Given the description of an element on the screen output the (x, y) to click on. 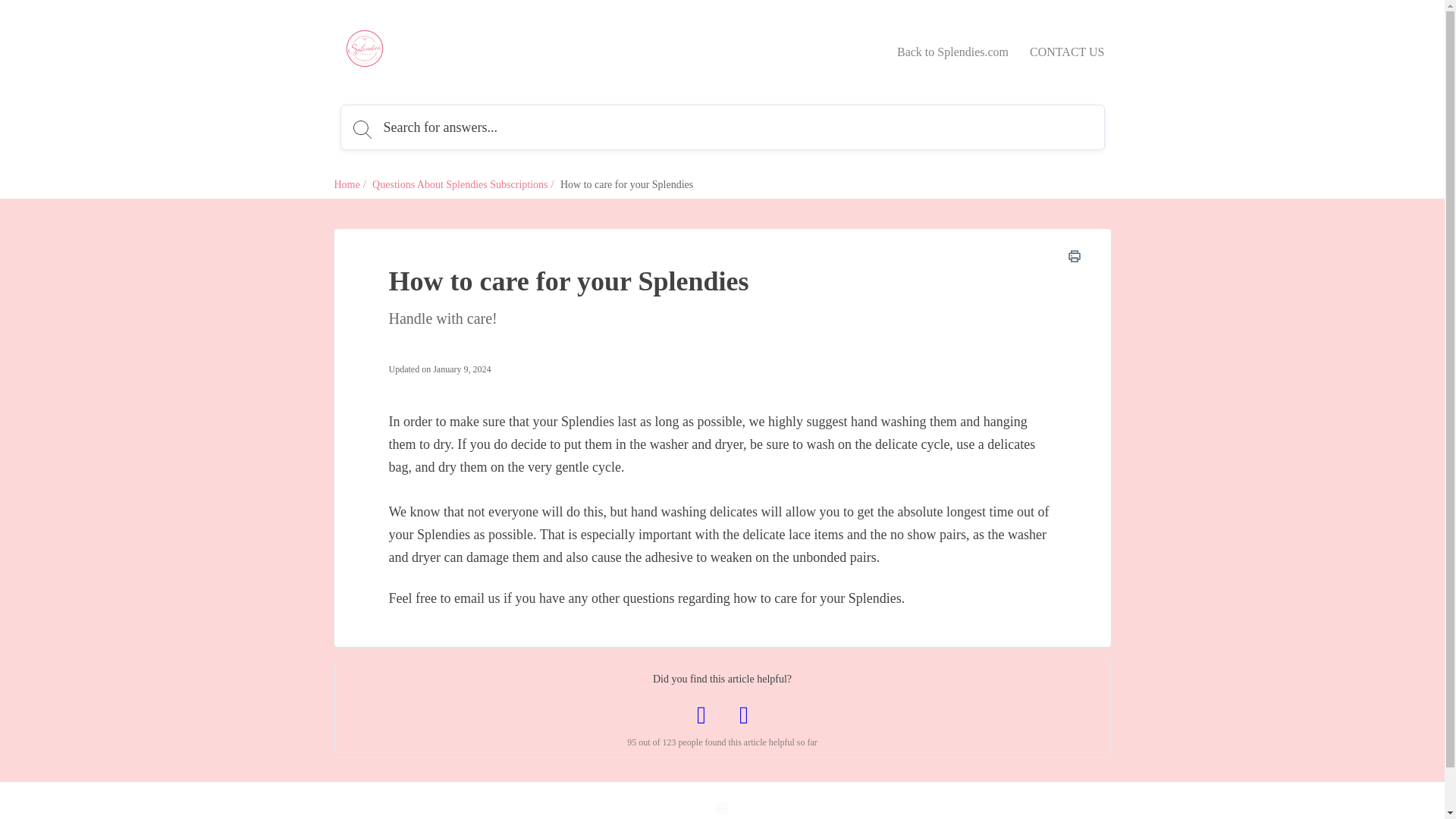
Back to Splendies.com (952, 52)
Questions About Splendies Subscriptions (459, 184)
Home (346, 184)
CONTACT US (1066, 52)
